Given the description of an element on the screen output the (x, y) to click on. 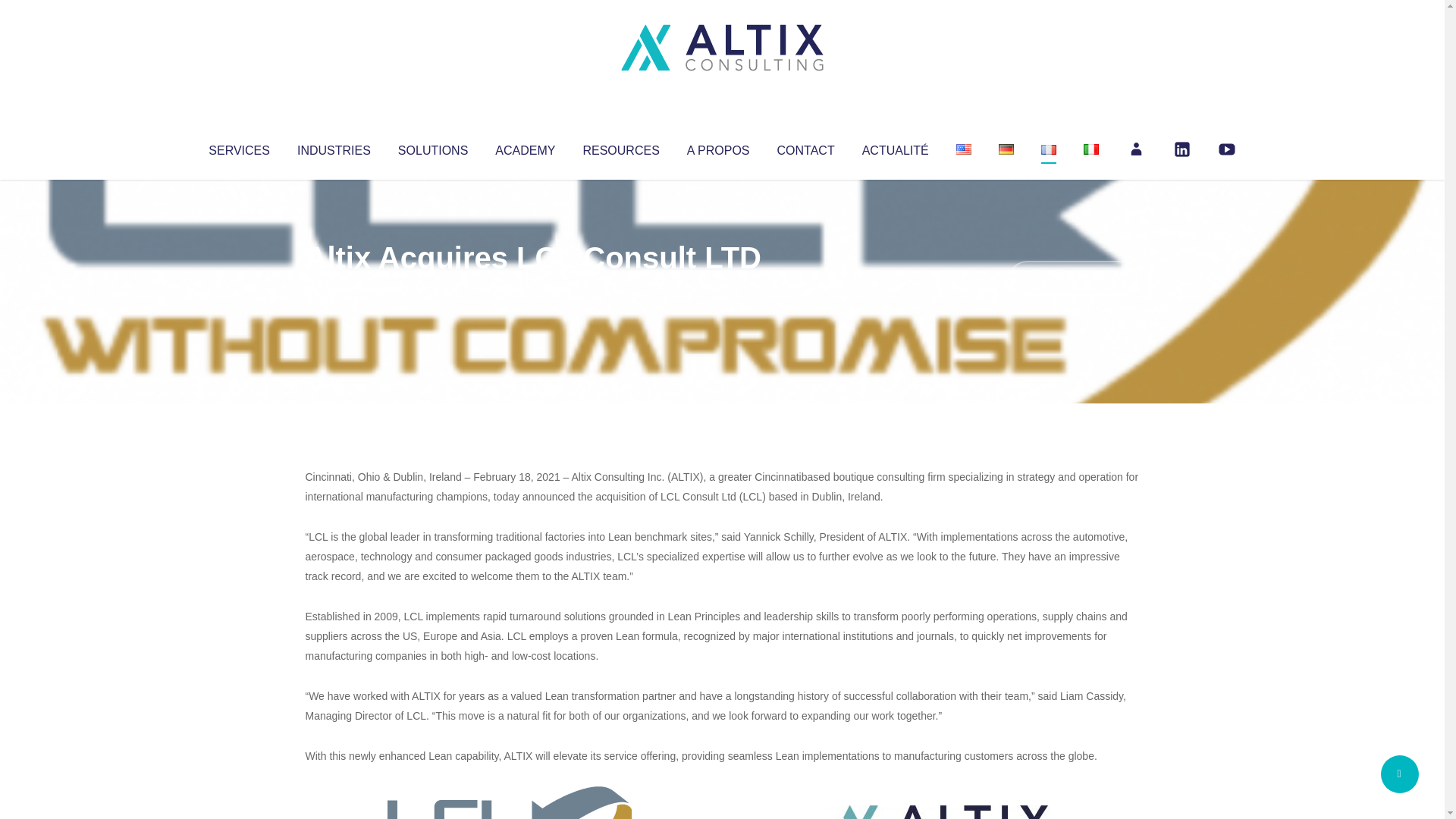
Articles par Altix (333, 287)
INDUSTRIES (334, 146)
A PROPOS (718, 146)
ACADEMY (524, 146)
Uncategorized (530, 287)
No Comments (1073, 278)
RESOURCES (620, 146)
SERVICES (238, 146)
Altix (333, 287)
SOLUTIONS (432, 146)
